Given the description of an element on the screen output the (x, y) to click on. 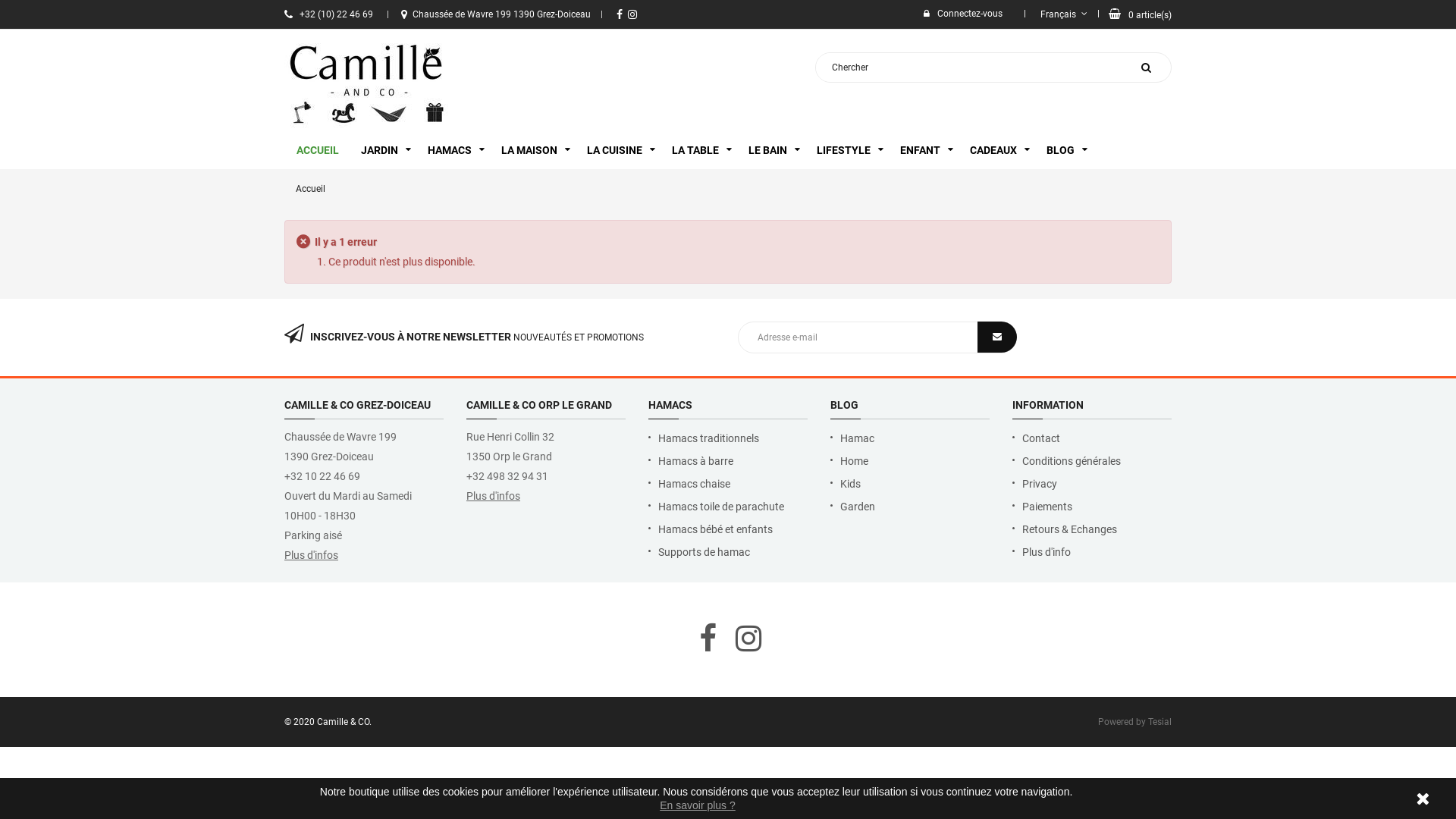
ACCUEIL Element type: text (317, 150)
Plus d'infos Element type: text (493, 495)
CADEAUX Element type: text (998, 150)
HAMACS Element type: text (454, 150)
LA MAISON Element type: text (534, 150)
Privacy Element type: text (1091, 483)
Hamac Element type: text (909, 437)
Contact Element type: text (1091, 437)
ENFANT Element type: text (925, 150)
LA TABLE Element type: text (700, 150)
Hamacs traditionnels Element type: text (727, 437)
Hamacs chaise Element type: text (727, 483)
Accueil Element type: text (310, 188)
Plus d'infos Element type: text (311, 555)
JARDIN Element type: text (384, 150)
LA CUISINE Element type: text (619, 150)
Chercher Element type: text (1145, 67)
Home Element type: text (909, 460)
Connectez-vous Element type: text (962, 13)
En savoir plus ? Element type: text (697, 805)
Supports de hamac Element type: text (727, 551)
Retours & Echanges Element type: text (1091, 528)
Powered by Tesial Element type: text (1134, 721)
Paiements Element type: text (1091, 506)
Kids Element type: text (909, 483)
Plus d'info Element type: text (1091, 551)
LIFESTYLE Element type: text (848, 150)
Garden Element type: text (909, 506)
Hamacs toile de parachute Element type: text (727, 506)
LE BAIN Element type: text (772, 150)
BLOG Element type: text (1065, 150)
Camille & Co Element type: hover (366, 82)
